Given the description of an element on the screen output the (x, y) to click on. 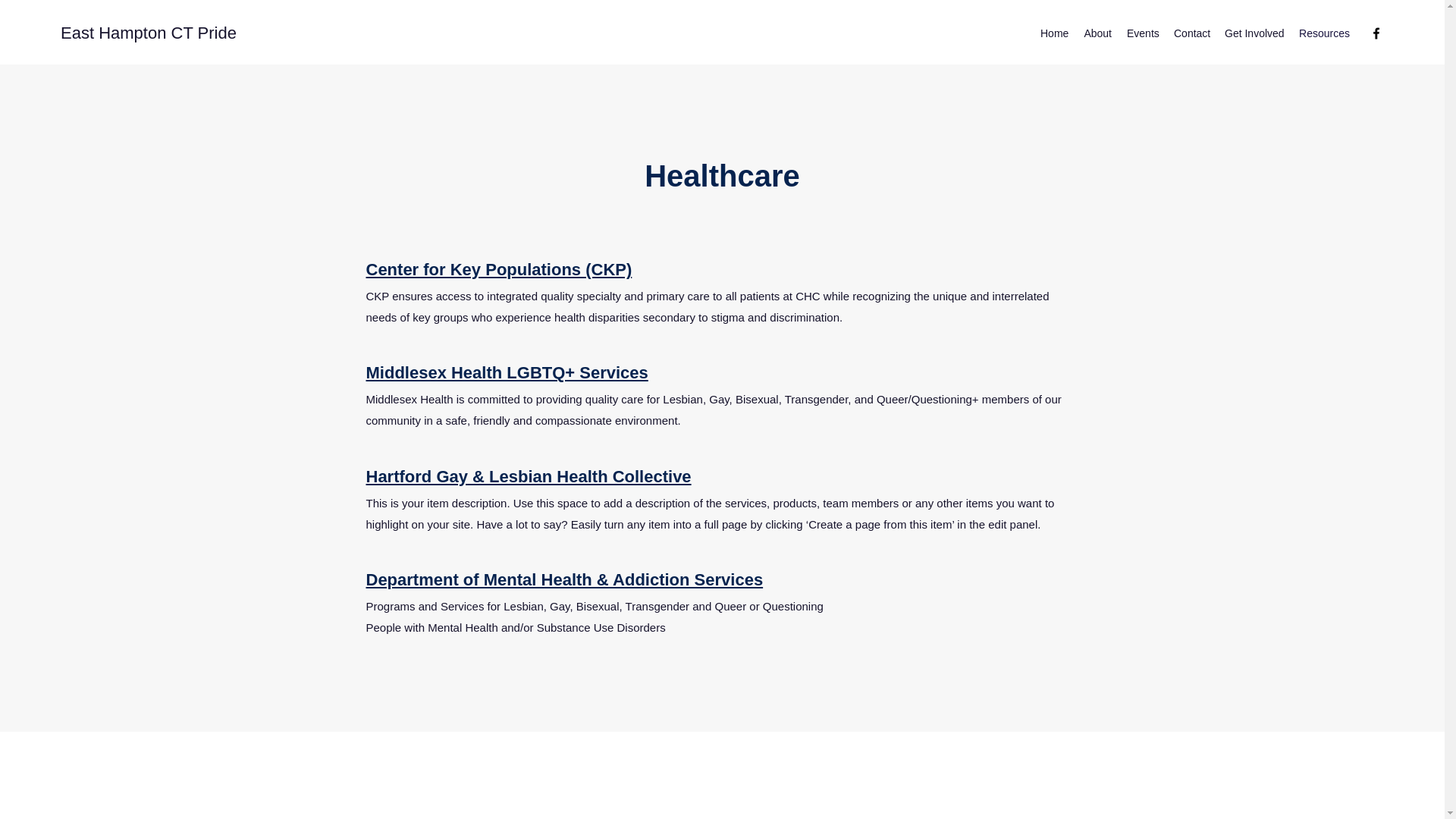
Events (1142, 33)
Contact (1191, 33)
East Hampton CT Pride (148, 32)
Get Involved (1254, 33)
Resources (1323, 33)
Home (1053, 33)
About (1097, 33)
